Given the description of an element on the screen output the (x, y) to click on. 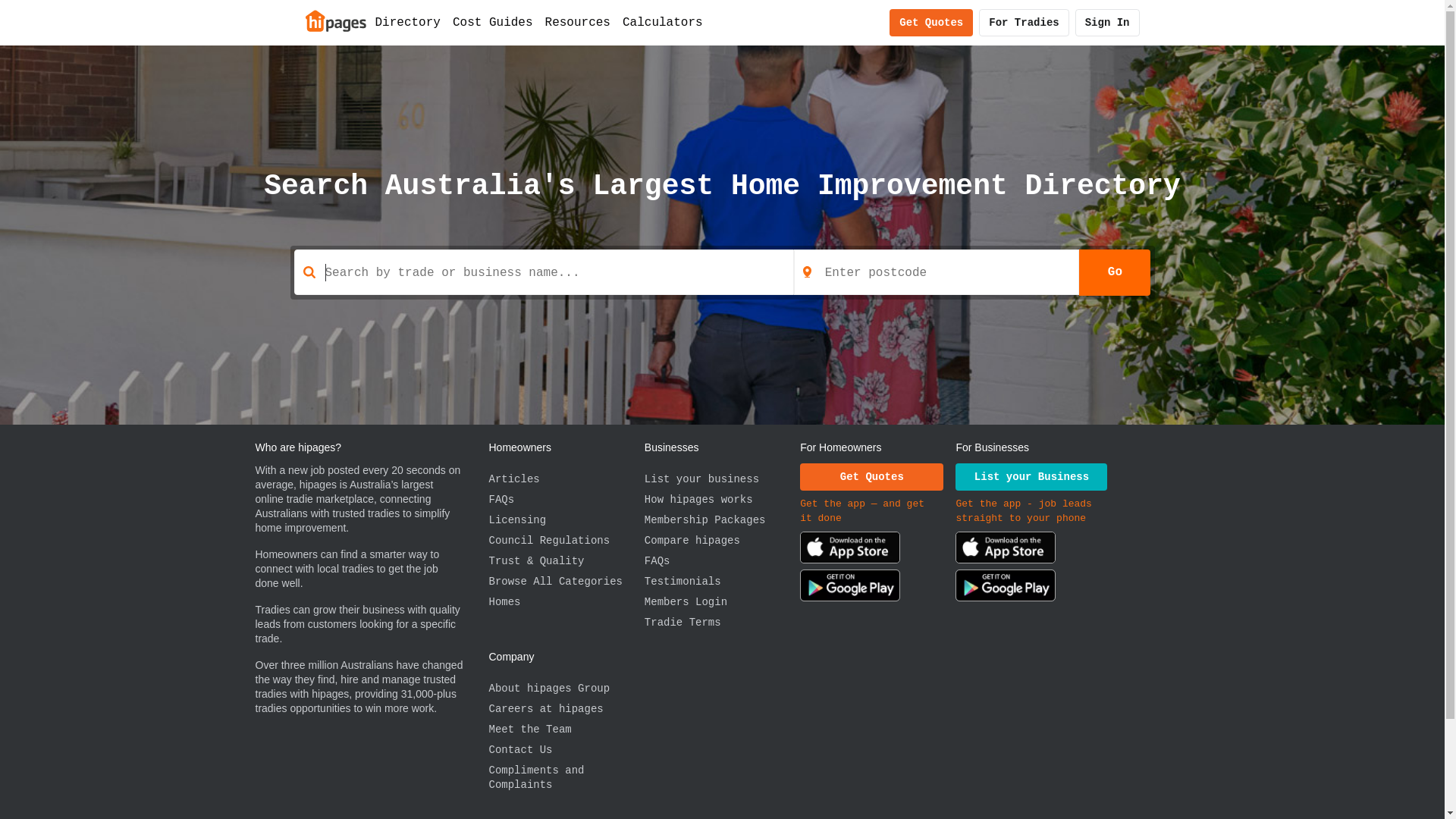
Get Quotes Element type: text (871, 476)
Compliments and Complaints Element type: text (565, 777)
Articles Element type: text (565, 479)
Download the hipages app on Google Play Element type: hover (1005, 588)
Calculators Element type: text (662, 22)
How hipages works Element type: text (722, 499)
Resources Element type: text (577, 22)
Compare hipages Element type: text (722, 540)
Meet the Team Element type: text (565, 729)
FAQs Element type: text (722, 561)
Browse All Categories Element type: text (565, 581)
Cost Guides Element type: text (492, 22)
List your business Element type: text (722, 479)
Go Element type: text (1114, 271)
About hipages Group Element type: text (565, 688)
Contact Us Element type: text (565, 750)
List your Business Element type: text (1031, 476)
Sign In Element type: text (1107, 22)
FAQs Element type: text (565, 499)
Download the hipages app on Google Play Element type: hover (850, 588)
Membership Packages Element type: text (722, 520)
Download the hipages app on the App Store Element type: hover (850, 550)
Council Regulations Element type: text (565, 540)
Get Quotes Element type: text (930, 22)
Trust & Quality Element type: text (565, 561)
Testimonials Element type: text (722, 581)
Licensing Element type: text (565, 520)
Careers at hipages Element type: text (565, 709)
Homes Element type: text (565, 602)
Home Element type: hover (334, 20)
Members Login Element type: text (722, 602)
Directory Element type: text (406, 22)
For Tradies Element type: text (1023, 22)
Download the hipages app on the App Store Element type: hover (1005, 550)
Tradie Terms Element type: text (722, 622)
